Given the description of an element on the screen output the (x, y) to click on. 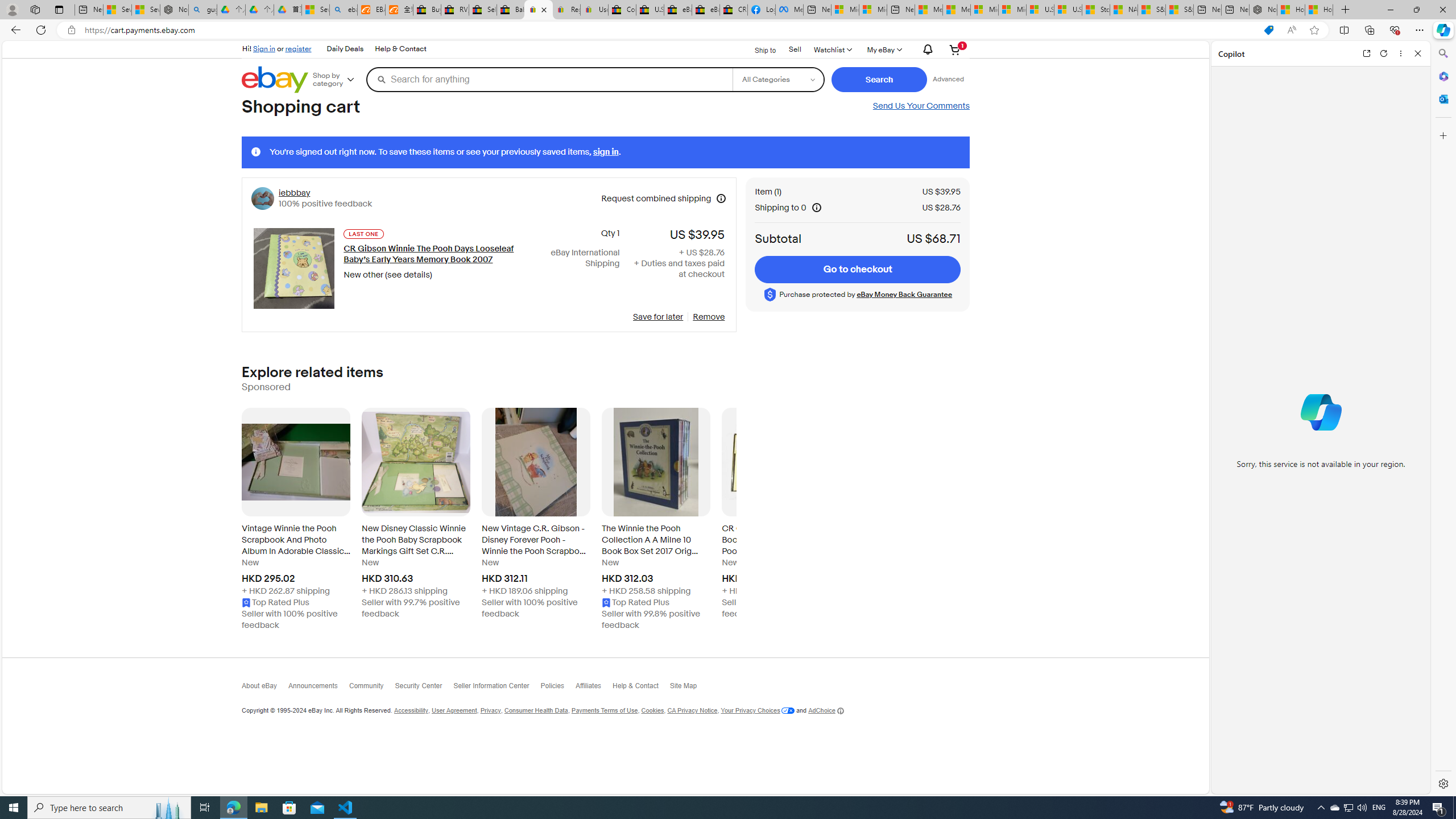
Policies (557, 688)
Sell (794, 49)
AutomationID: gh-eb-Alerts (926, 49)
Customize (1442, 135)
WatchlistExpand Watch List (831, 49)
Register: Create a personal eBay account (566, 9)
Seller Information Center (496, 688)
